Given the description of an element on the screen output the (x, y) to click on. 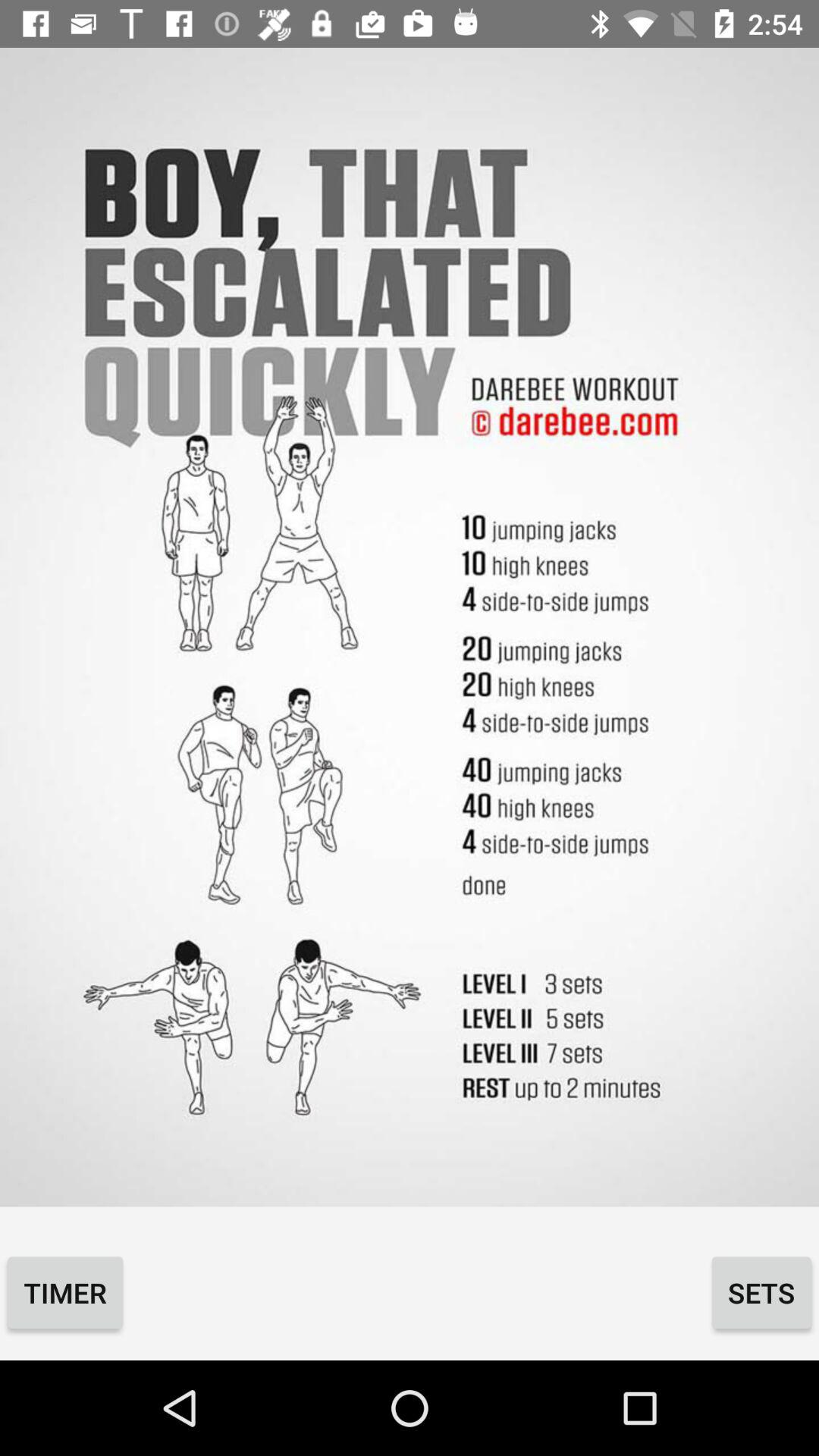
swipe to the sets icon (761, 1292)
